Given the description of an element on the screen output the (x, y) to click on. 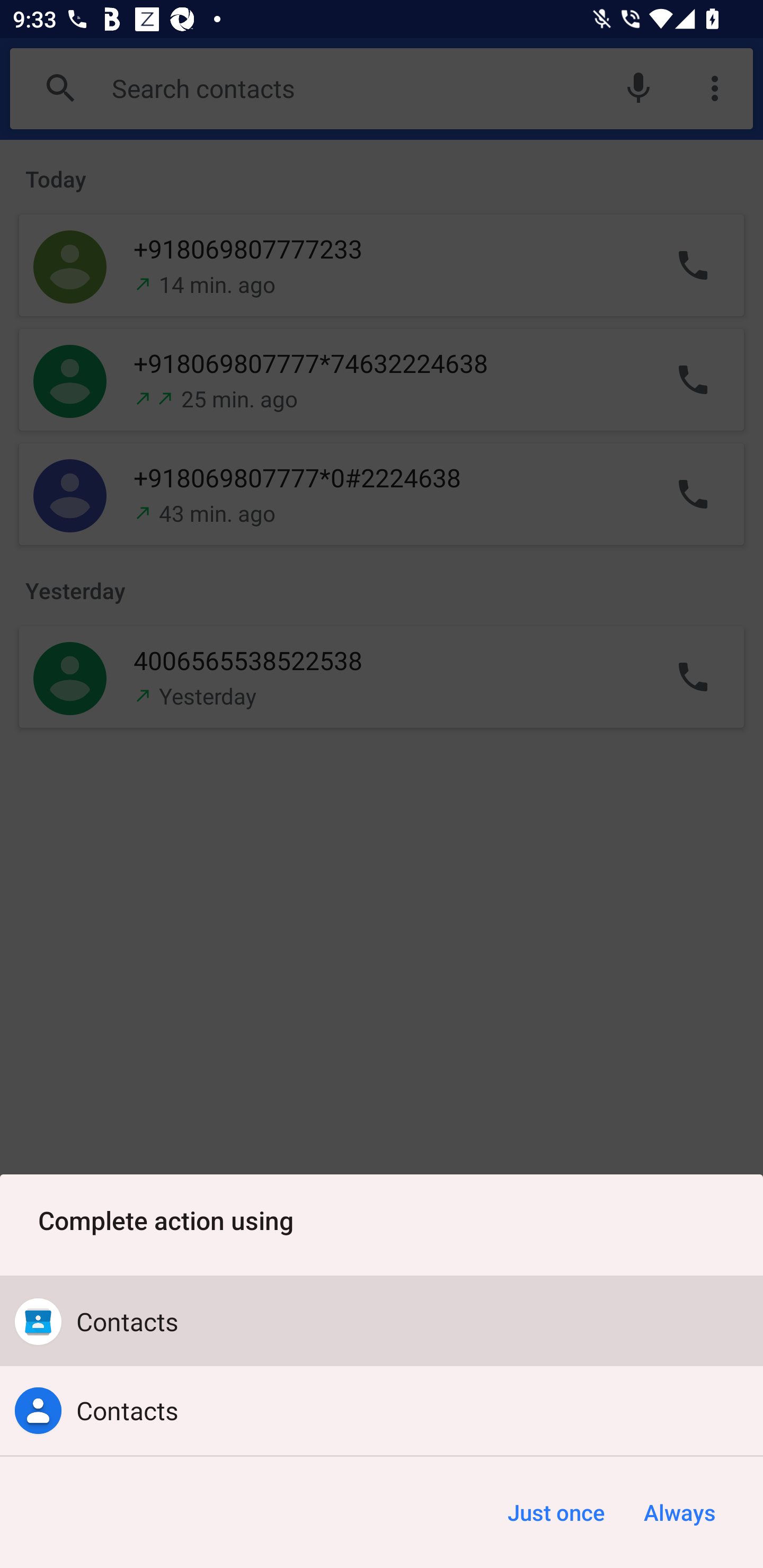
Contacts (381, 1321)
Contacts (381, 1410)
Just once (556, 1512)
Always (679, 1512)
